Given the description of an element on the screen output the (x, y) to click on. 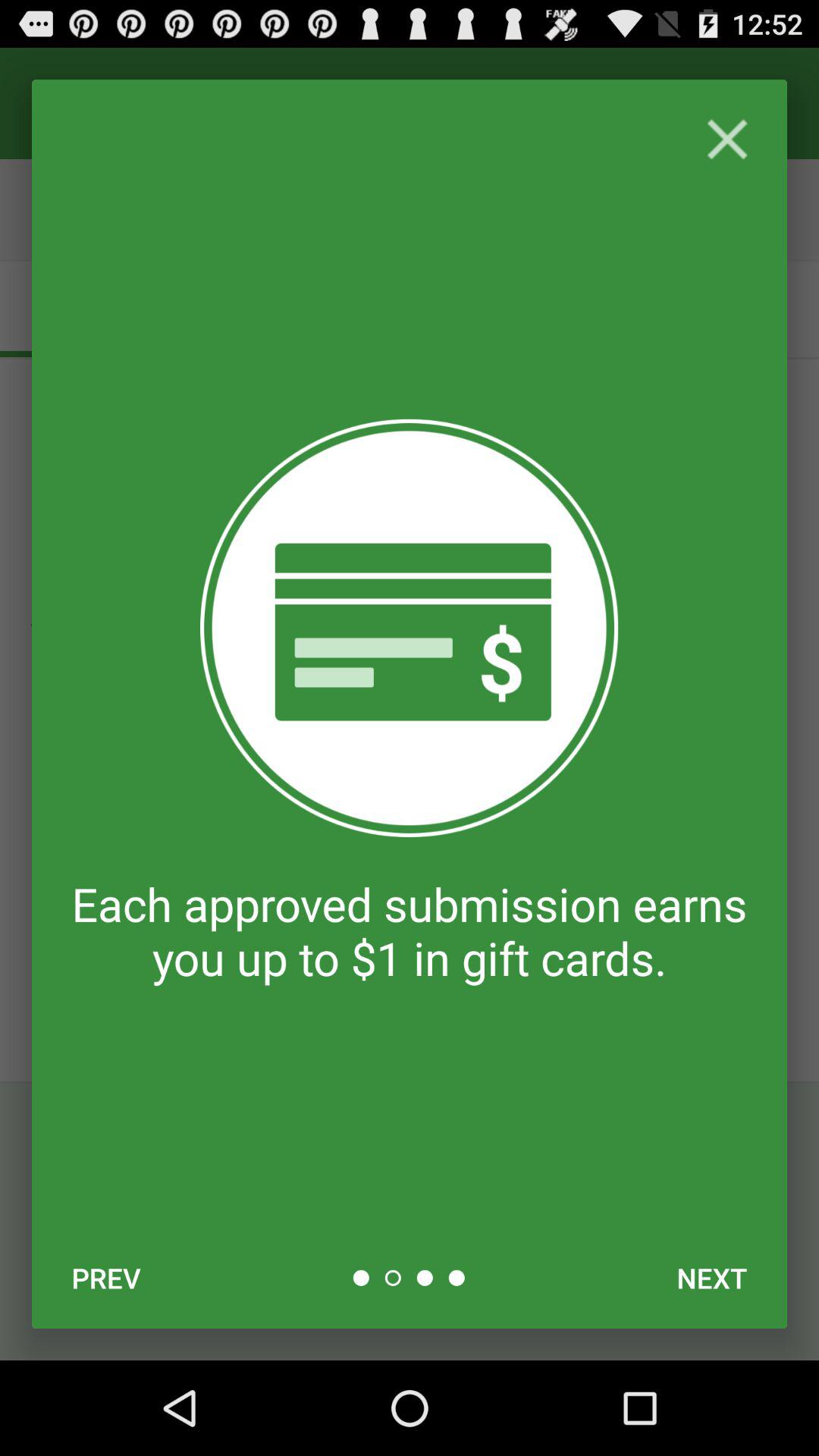
launch item at the bottom right corner (711, 1277)
